Given the description of an element on the screen output the (x, y) to click on. 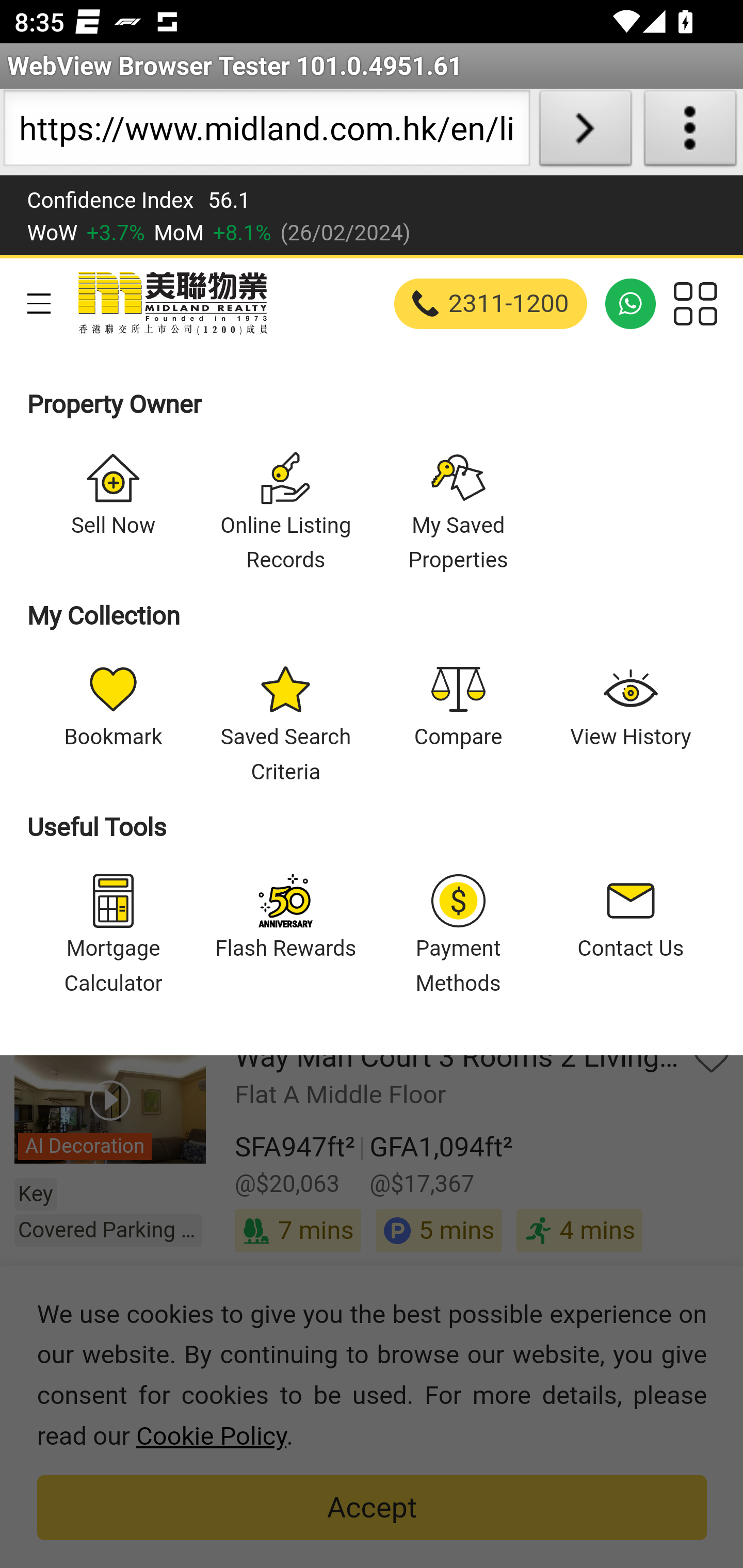
Load URL (585, 132)
About WebView (690, 132)
Midland Realty - Property Agency in Hong Kong (171, 303)
2311-1200 (490, 302)
WhatsApp: 2311-1200 (630, 302)
